Given the description of an element on the screen output the (x, y) to click on. 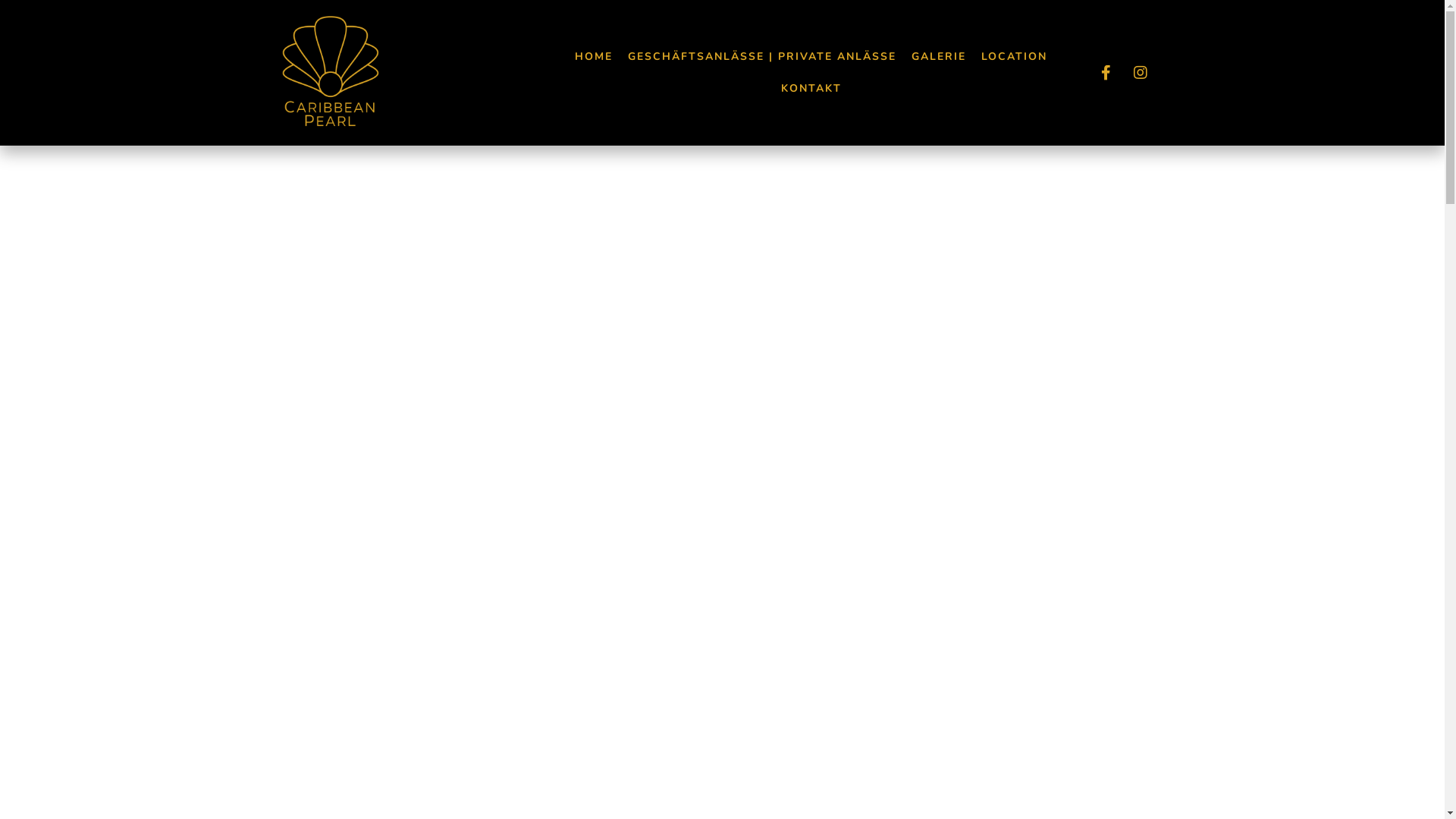
LOCATION Element type: text (1013, 56)
GALERIE Element type: text (938, 56)
HOME Element type: text (593, 56)
KONTAKT Element type: text (811, 88)
